Given the description of an element on the screen output the (x, y) to click on. 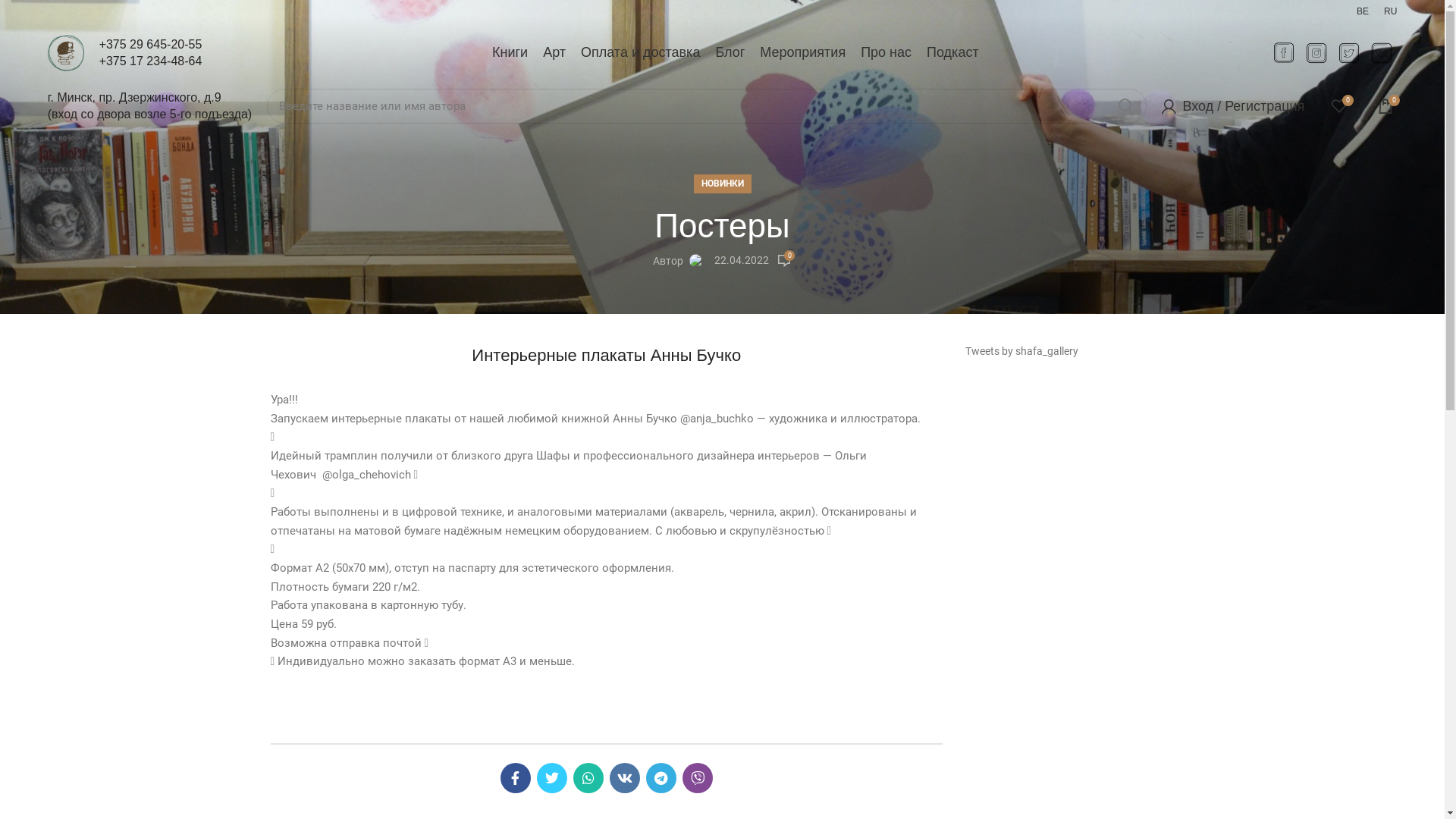
+375 17 234-48-64 Element type: text (150, 60)
+375 29 645-20-55 Element type: text (150, 43)
Tweets by shafa_gallery Element type: text (1021, 351)
0 Element type: text (1339, 106)
0 Element type: text (783, 260)
0 Element type: text (1385, 106)
@olga_chehovich Element type: text (365, 474)
@anja_buchko Element type: text (716, 418)
